Given the description of an element on the screen output the (x, y) to click on. 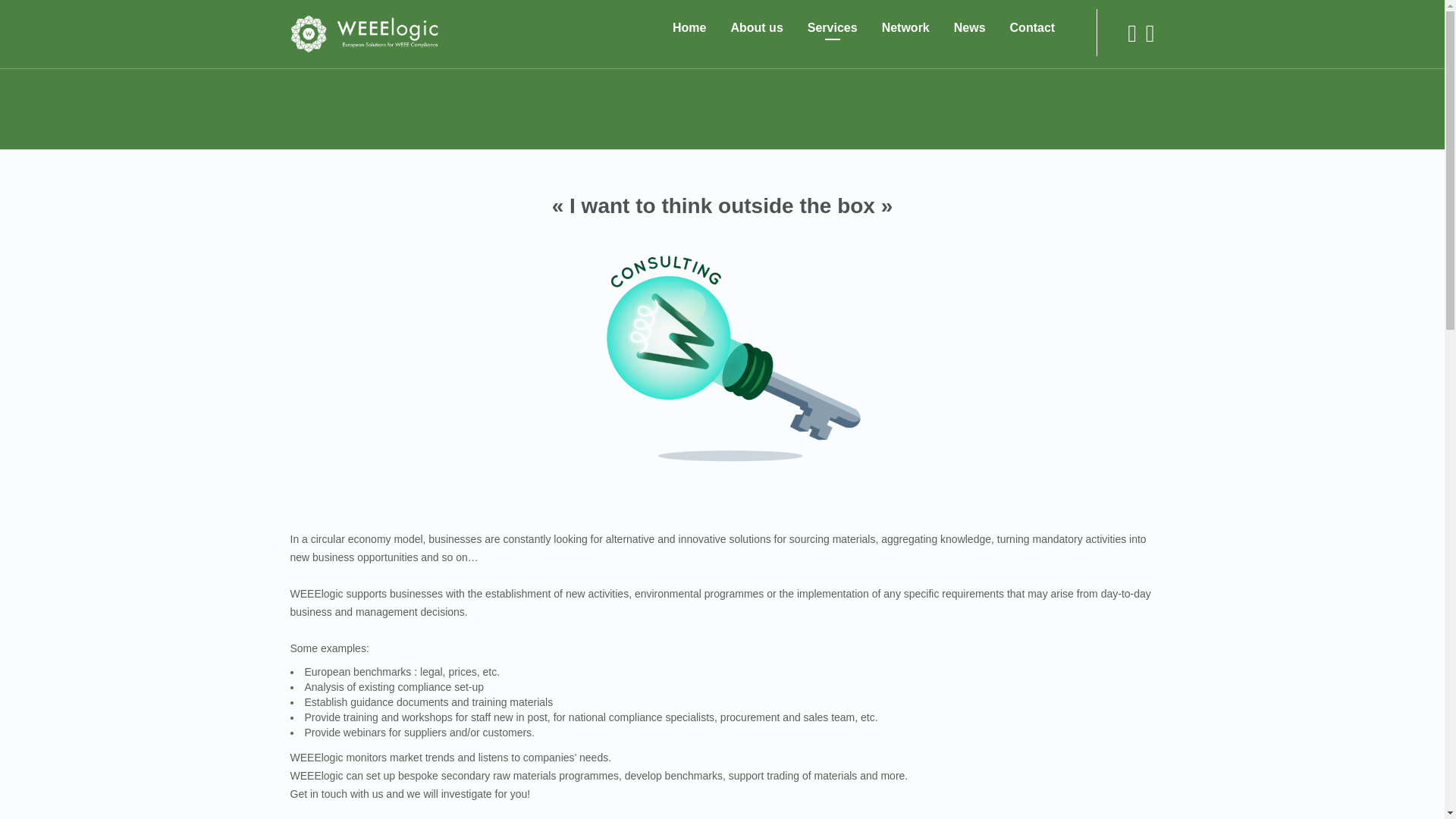
News (969, 27)
Services (832, 27)
Network (905, 27)
About us (756, 27)
Home (689, 27)
Contact (1032, 27)
